Given the description of an element on the screen output the (x, y) to click on. 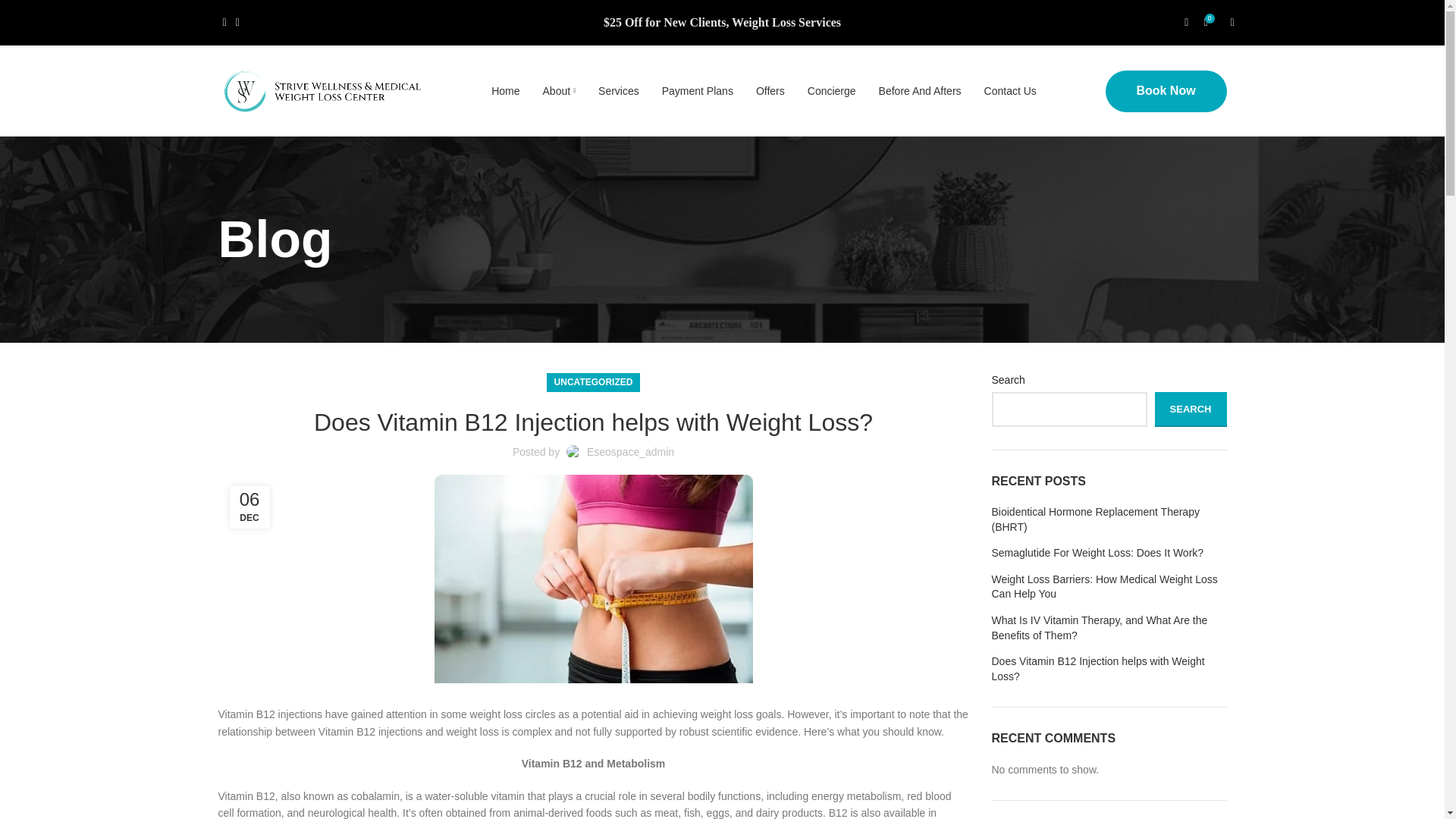
Semaglutide For Weight Loss: Does It Work? (1109, 553)
Payment Plans (697, 91)
Concierge (832, 91)
About (559, 91)
Offers (769, 91)
SEARCH (1190, 409)
Book Now (1166, 90)
UNCATEGORIZED (593, 382)
Home (505, 91)
Weight Loss Barriers: How Medical Weight Loss Can Help You (1109, 586)
Before And Afters (919, 91)
Does Vitamin B12 Injection helps with Weight Loss? (1109, 668)
Contact Us (1010, 91)
Services (618, 91)
